Given the description of an element on the screen output the (x, y) to click on. 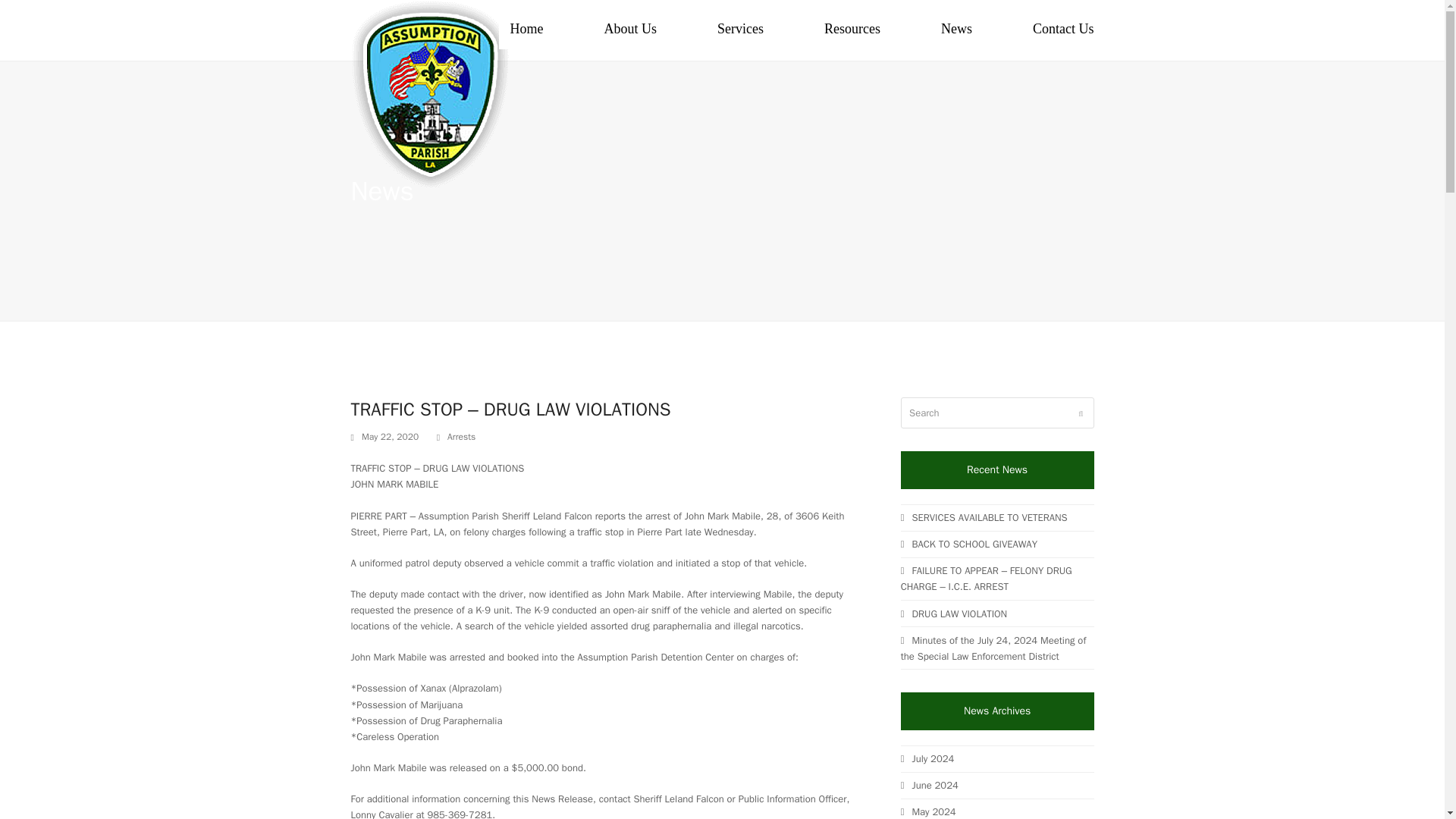
Services (740, 30)
Contact Us (1063, 30)
News (957, 30)
About Us (722, 30)
Resources (630, 30)
Home (851, 30)
